Given the description of an element on the screen output the (x, y) to click on. 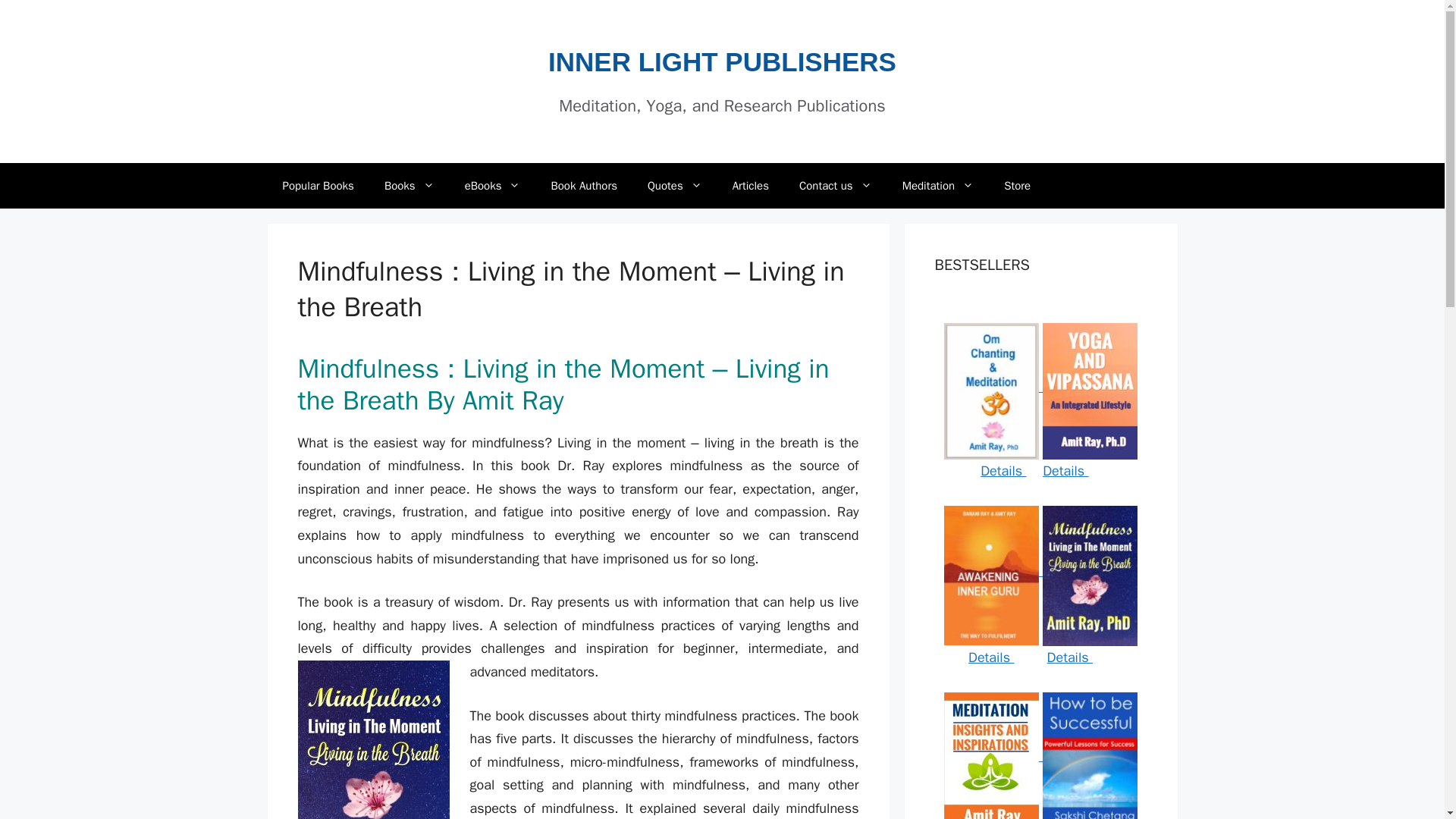
INNER LIGHT PUBLISHERS (722, 61)
Books (409, 185)
eBooks (492, 185)
Details (990, 657)
Quotes (674, 185)
Details (1064, 470)
Book Authors (583, 185)
Details (1069, 657)
Details (1002, 470)
Popular Books (317, 185)
